Given the description of an element on the screen output the (x, y) to click on. 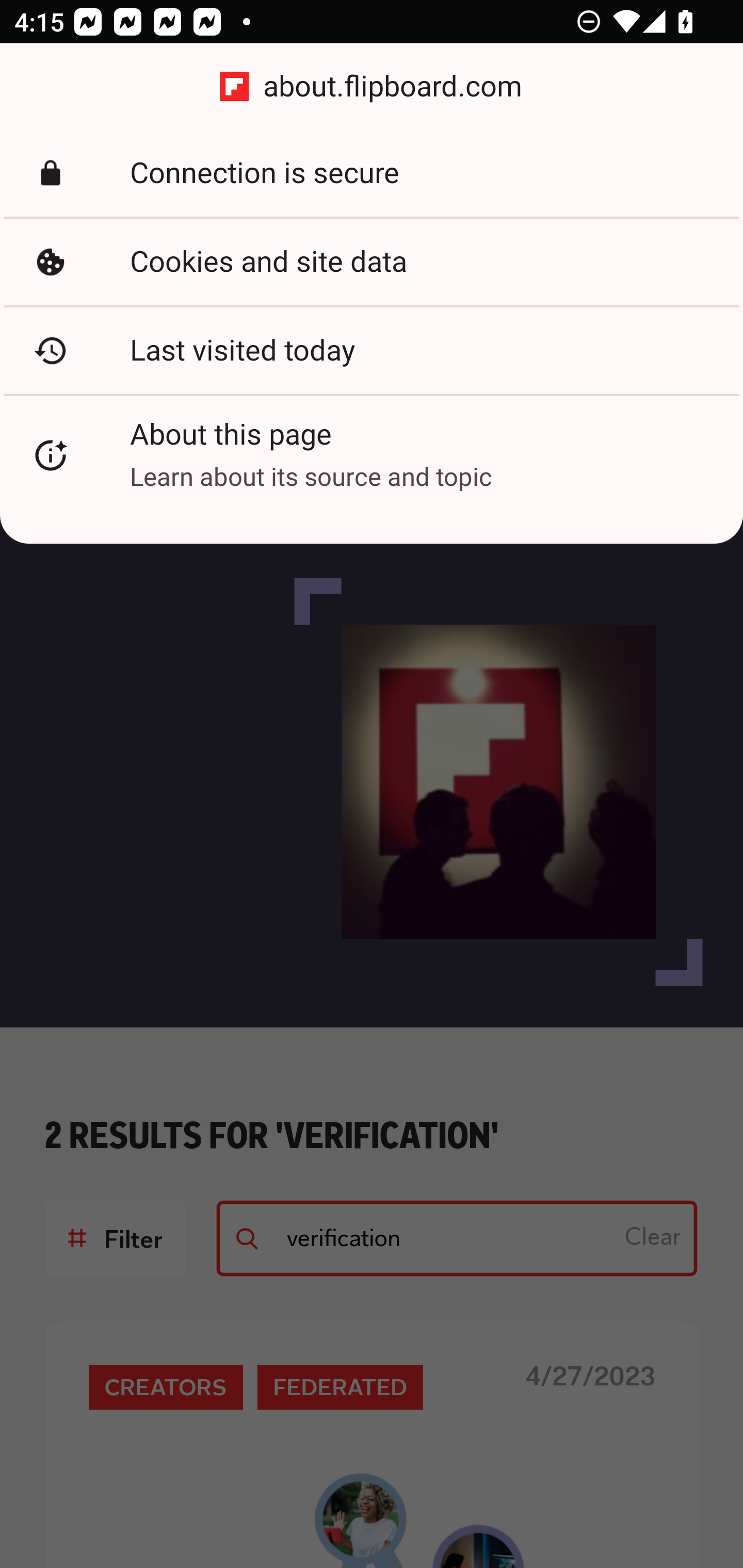
about.flipboard.com (371, 86)
Connection is secure (371, 173)
Cookies and site data (371, 261)
Last visited today (371, 350)
About this page Learn about its source and topic (371, 455)
